Given the description of an element on the screen output the (x, y) to click on. 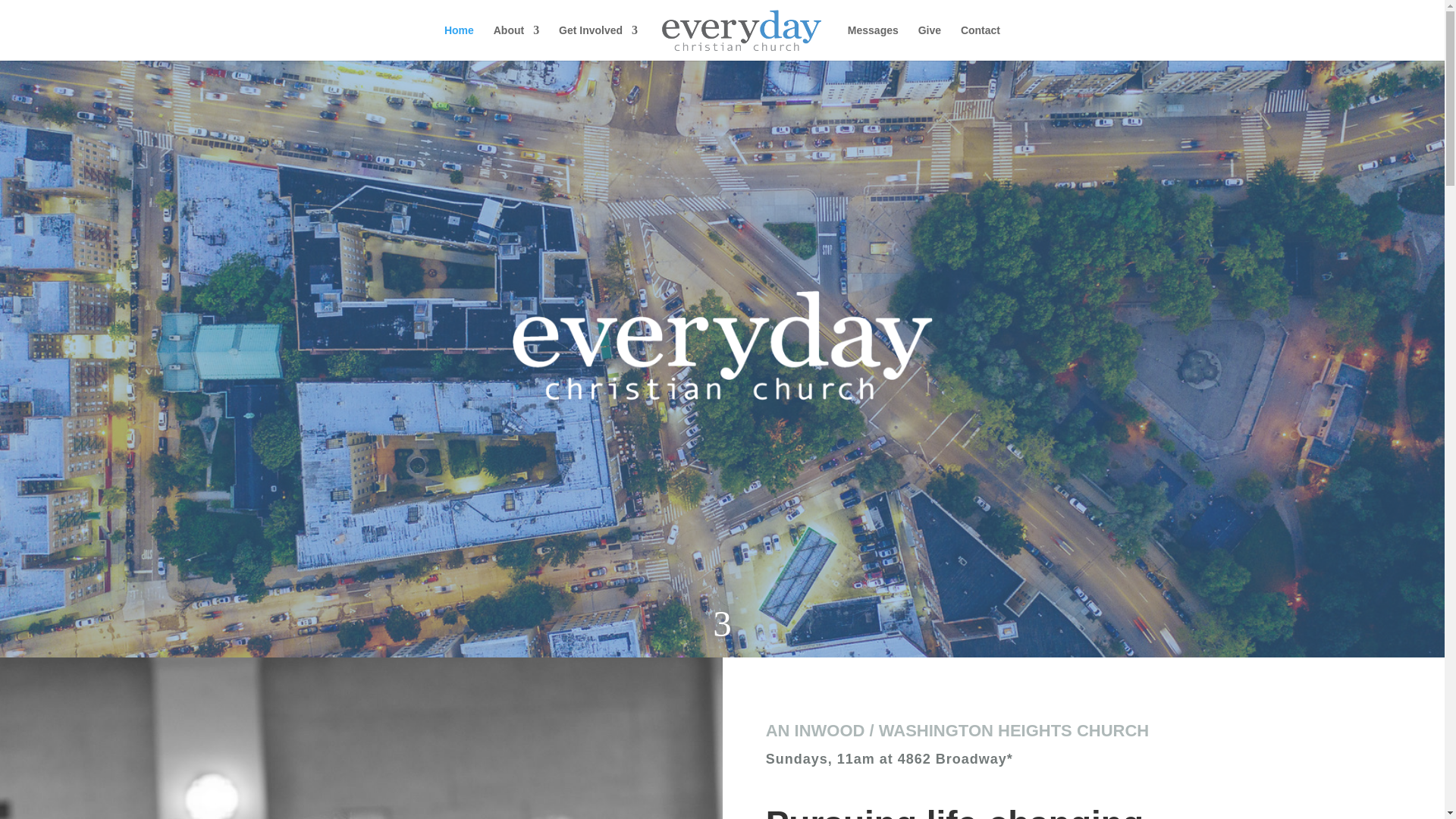
Messages (872, 42)
Get Involved (598, 42)
Contact (980, 42)
About (515, 42)
